Given the description of an element on the screen output the (x, y) to click on. 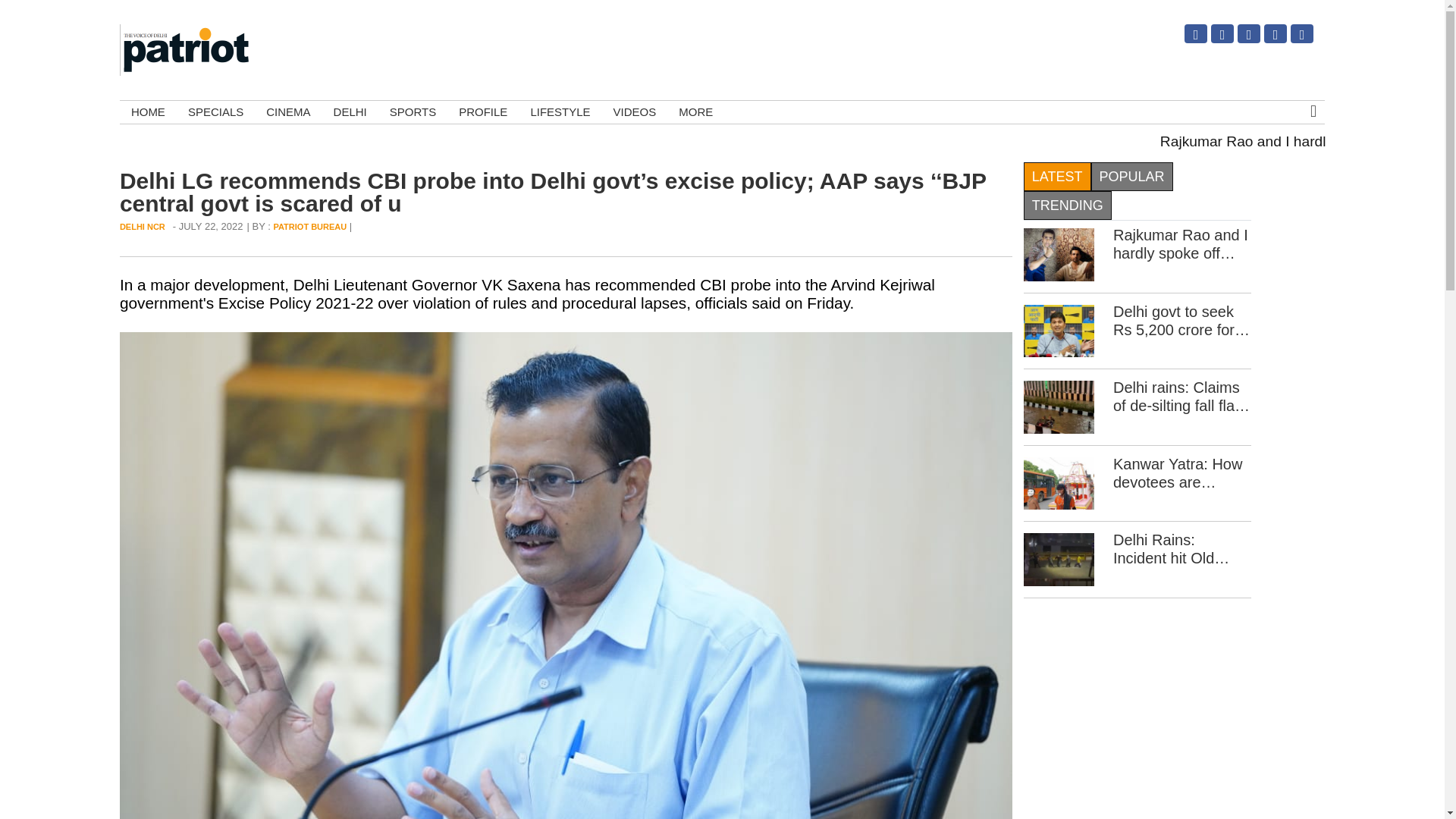
SPORTS (412, 111)
Rajkumar Rao and I hardly spoke off camera: Gulshan Devaiah (1058, 253)
MORE (694, 111)
HOME (147, 111)
CINEMA (287, 111)
Delhi govt to seek Rs 5,200 crore for MCD from Centre (1058, 329)
VIDEOS (635, 111)
Linkedin (1266, 39)
LIFESTYLE (559, 111)
SPECIALS (215, 111)
Facebook (1239, 39)
Instagram (1186, 39)
Search (1293, 184)
